Given the description of an element on the screen output the (x, y) to click on. 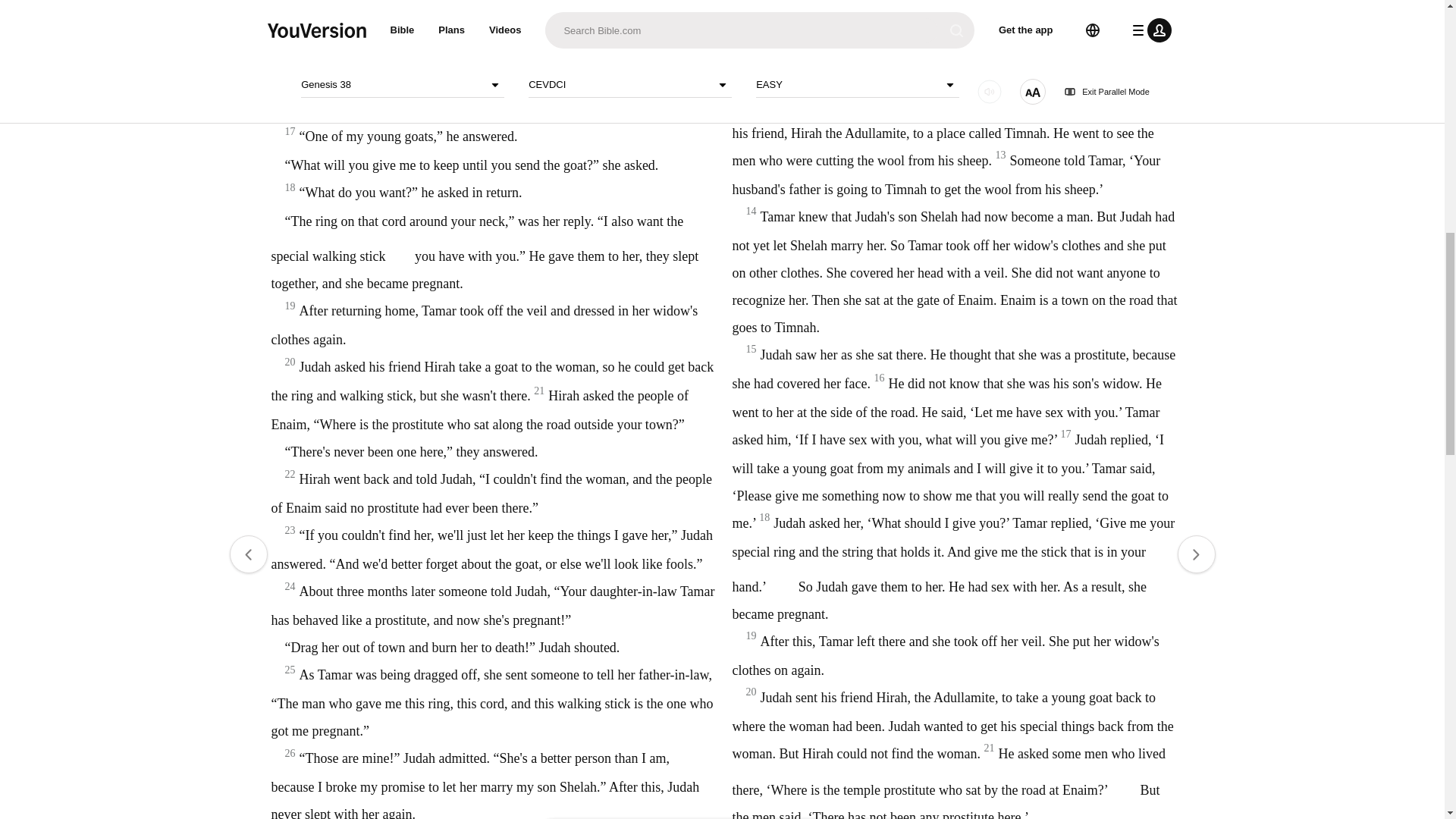
: (599, 47)
Genesis 38: CEVDCI (631, 47)
Sign up or sign in (773, 245)
